Given the description of an element on the screen output the (x, y) to click on. 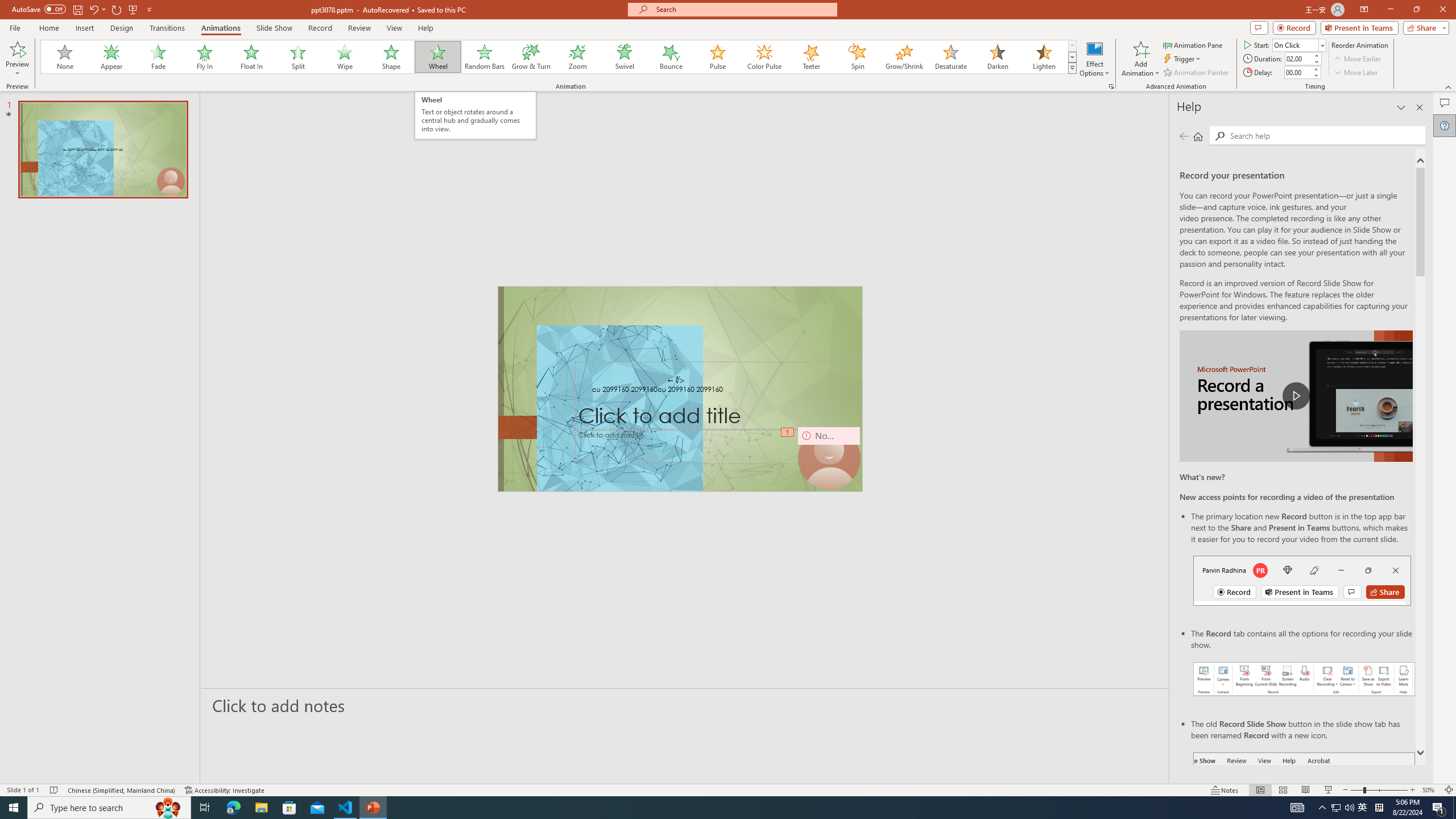
Record your presentations screenshot one (1304, 678)
Grow & Turn (531, 56)
Bounce (670, 56)
Animation Pane (1193, 44)
An abstract genetic concept (679, 388)
